Given the description of an element on the screen output the (x, y) to click on. 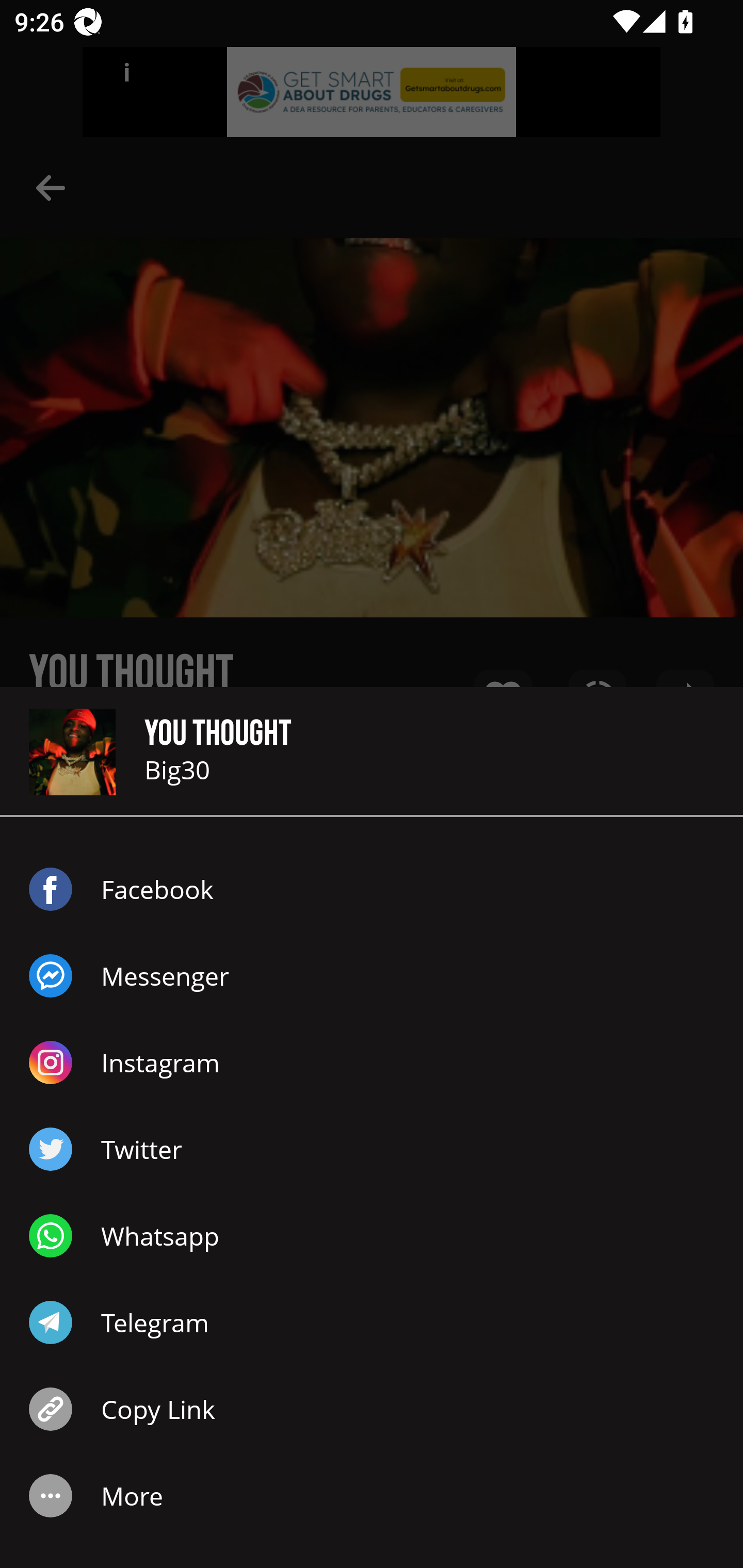
Facebook (371, 888)
Messenger (371, 975)
Instagram (371, 1062)
Twitter (371, 1149)
Whatsapp (371, 1236)
Telegram (371, 1322)
Copy Link (371, 1408)
More (371, 1495)
